Given the description of an element on the screen output the (x, y) to click on. 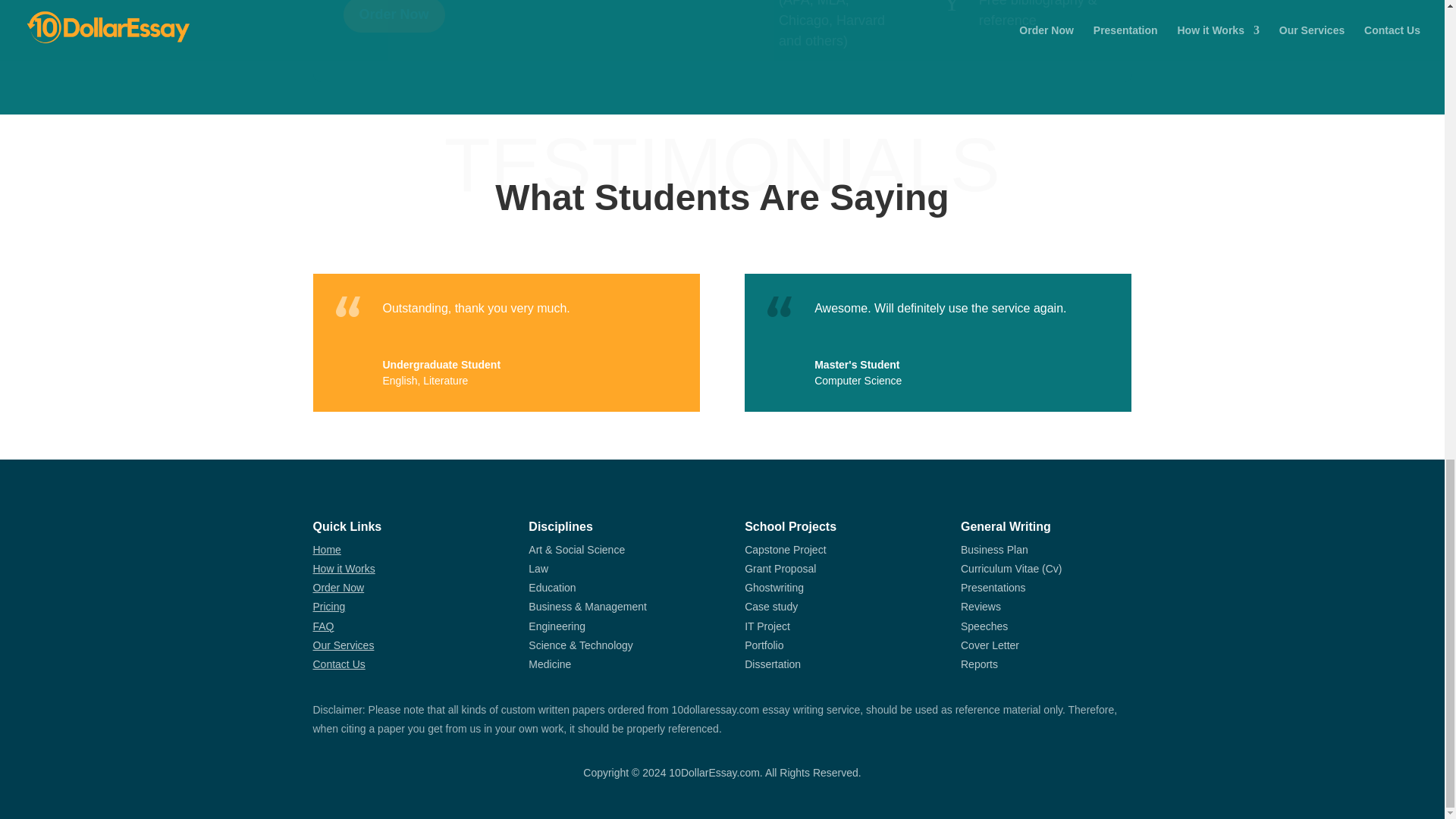
FAQ (323, 625)
Pricing (329, 606)
Order Now (338, 587)
Contact Us (339, 664)
Our Services (343, 645)
Order Now (393, 16)
Home (326, 549)
How it Works (343, 568)
